Given the description of an element on the screen output the (x, y) to click on. 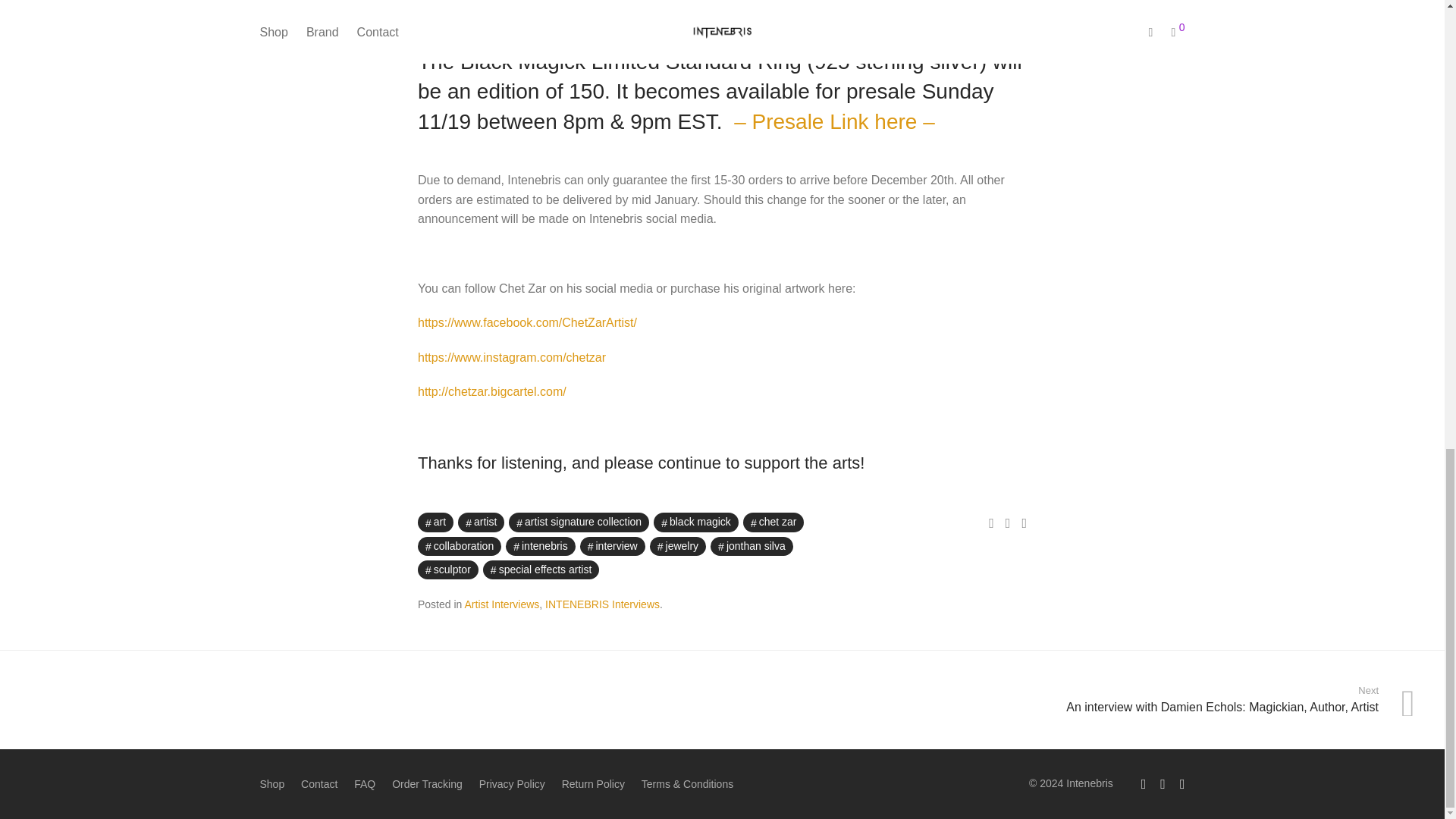
artist signature collection (578, 521)
black magick (695, 521)
art (434, 521)
chet zar (773, 521)
artist (480, 521)
